Given the description of an element on the screen output the (x, y) to click on. 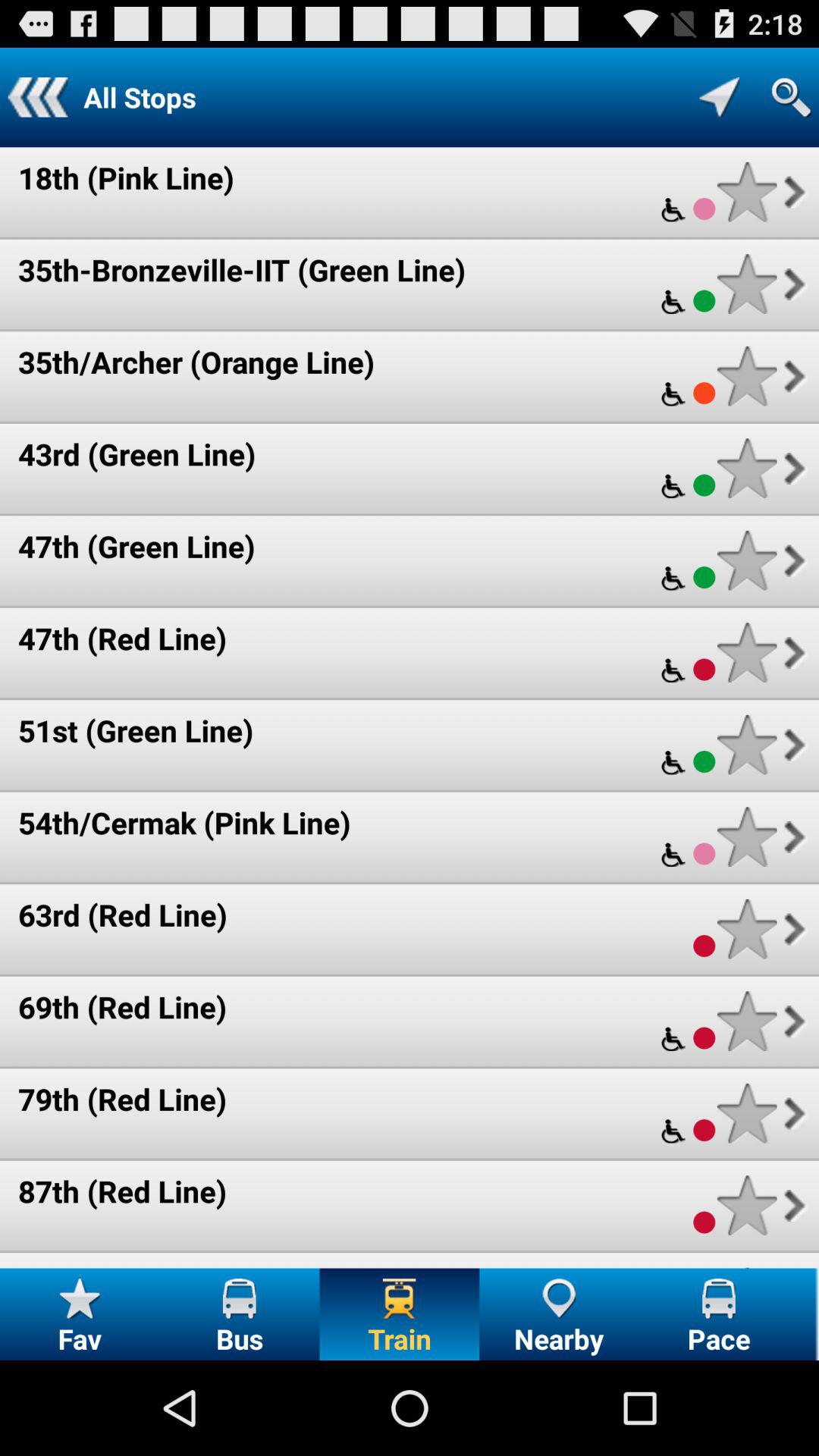
add favorite (746, 191)
